Given the description of an element on the screen output the (x, y) to click on. 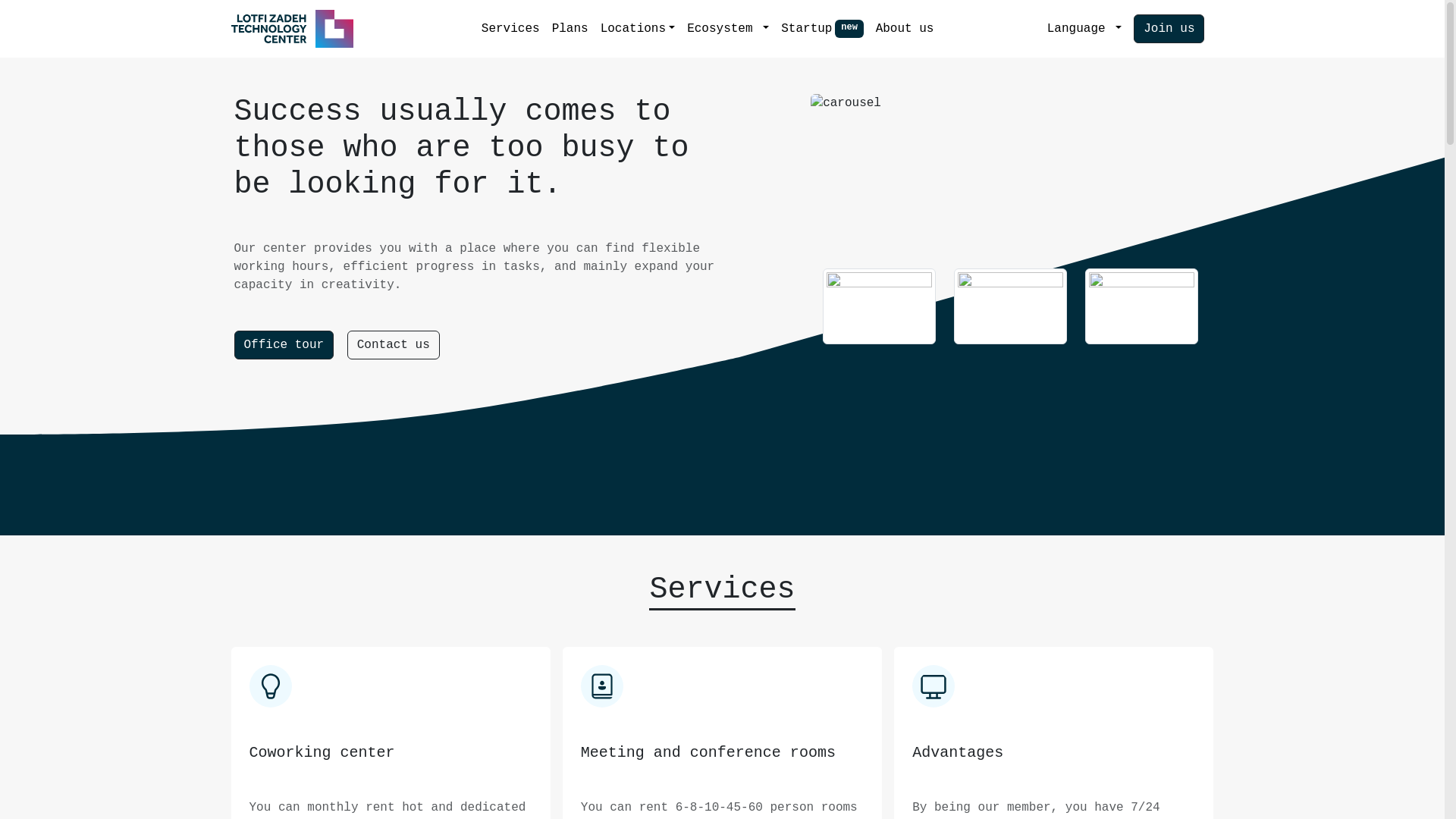
Ecosystem Element type: text (727, 28)
Contact us Element type: text (393, 344)
Services Element type: text (510, 28)
Language Element type: text (1084, 28)
Locations Element type: text (637, 28)
About us Element type: text (904, 28)
Startup
new Element type: text (822, 28)
Plans Element type: text (570, 28)
Office tour Element type: text (283, 344)
Join us Element type: text (1168, 28)
